Given the description of an element on the screen output the (x, y) to click on. 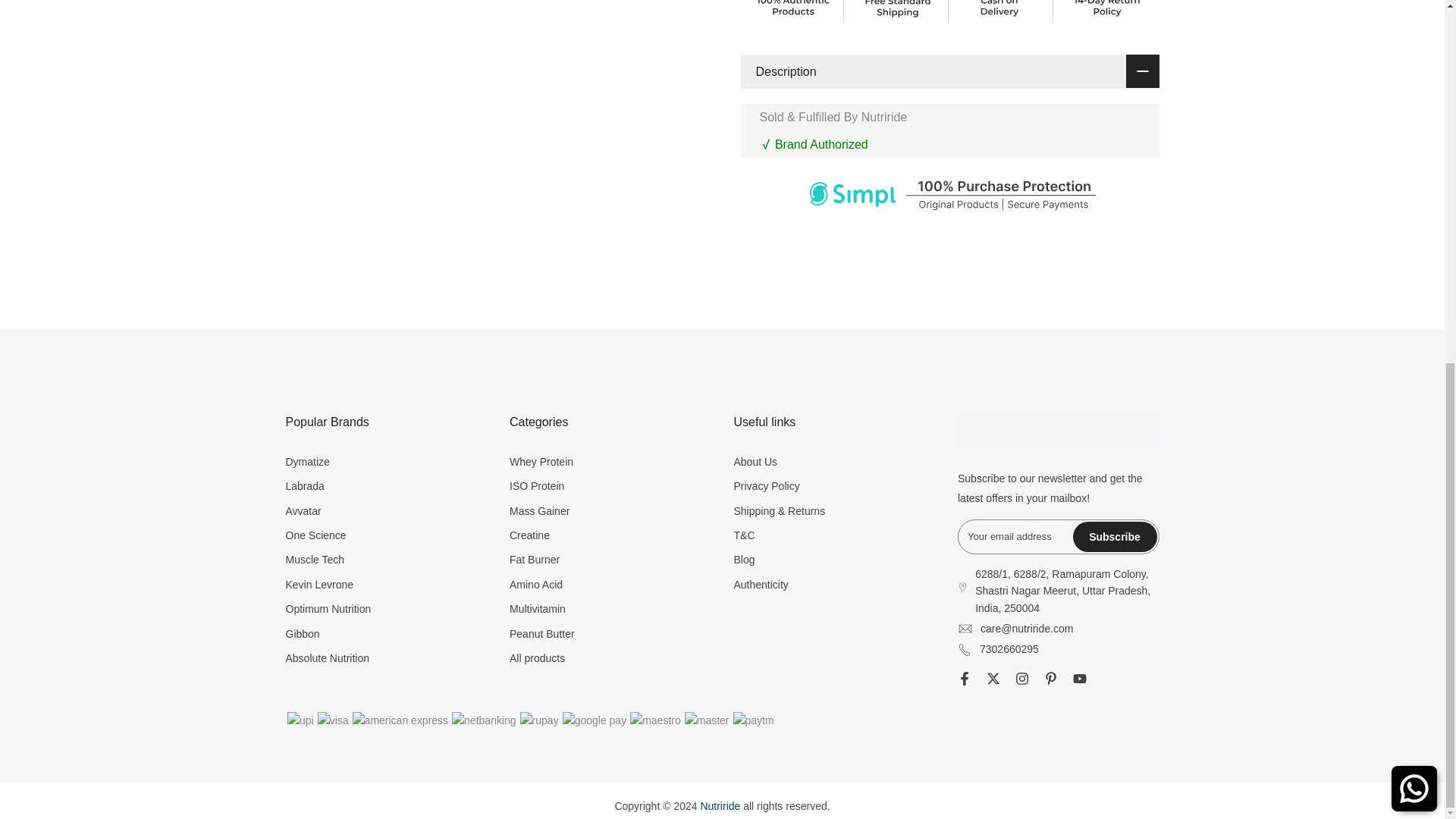
Description (948, 71)
Dymatize (307, 461)
Labrada (304, 485)
